Given the description of an element on the screen output the (x, y) to click on. 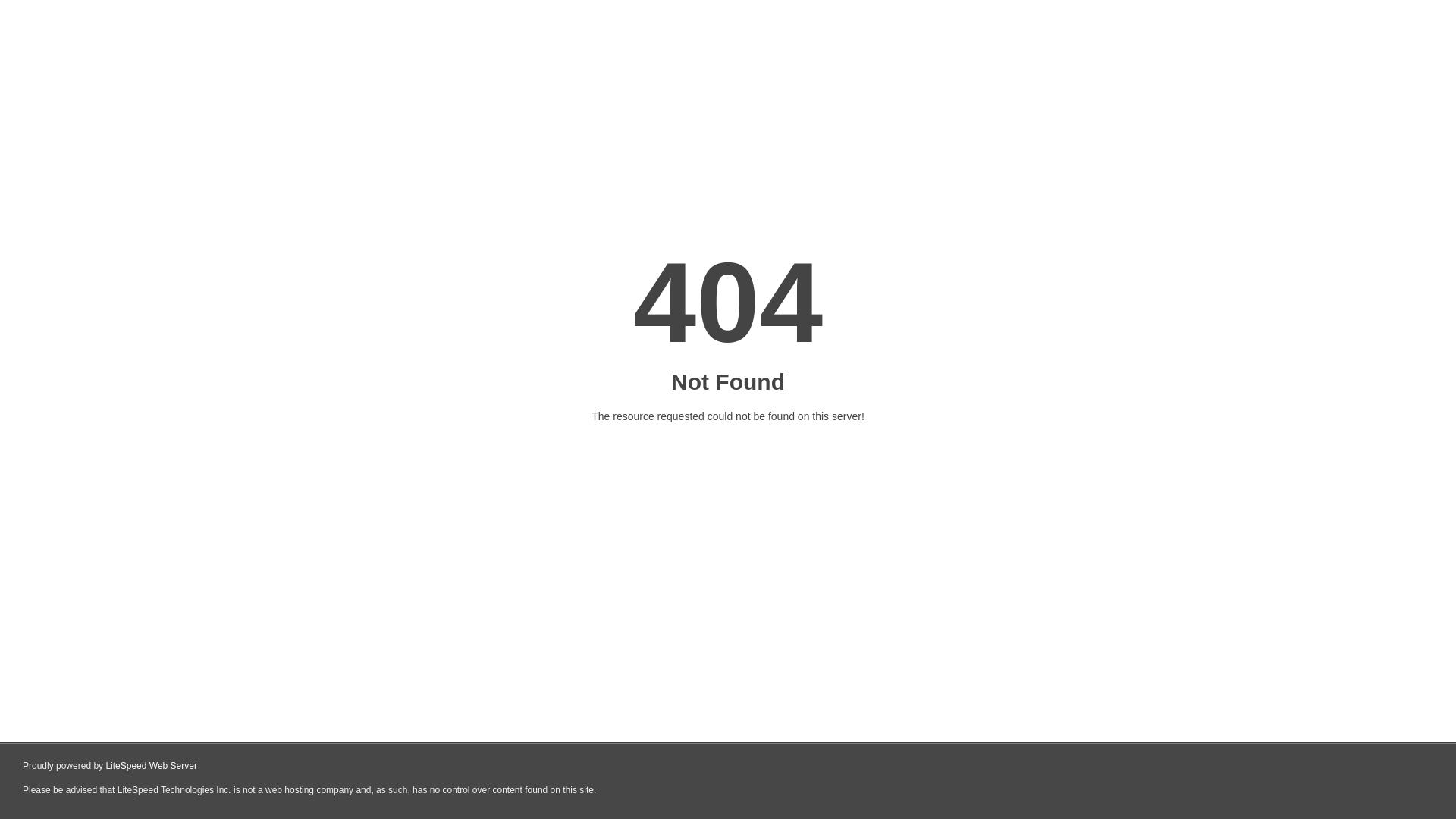
LiteSpeed Web Server Element type: text (151, 765)
